Given the description of an element on the screen output the (x, y) to click on. 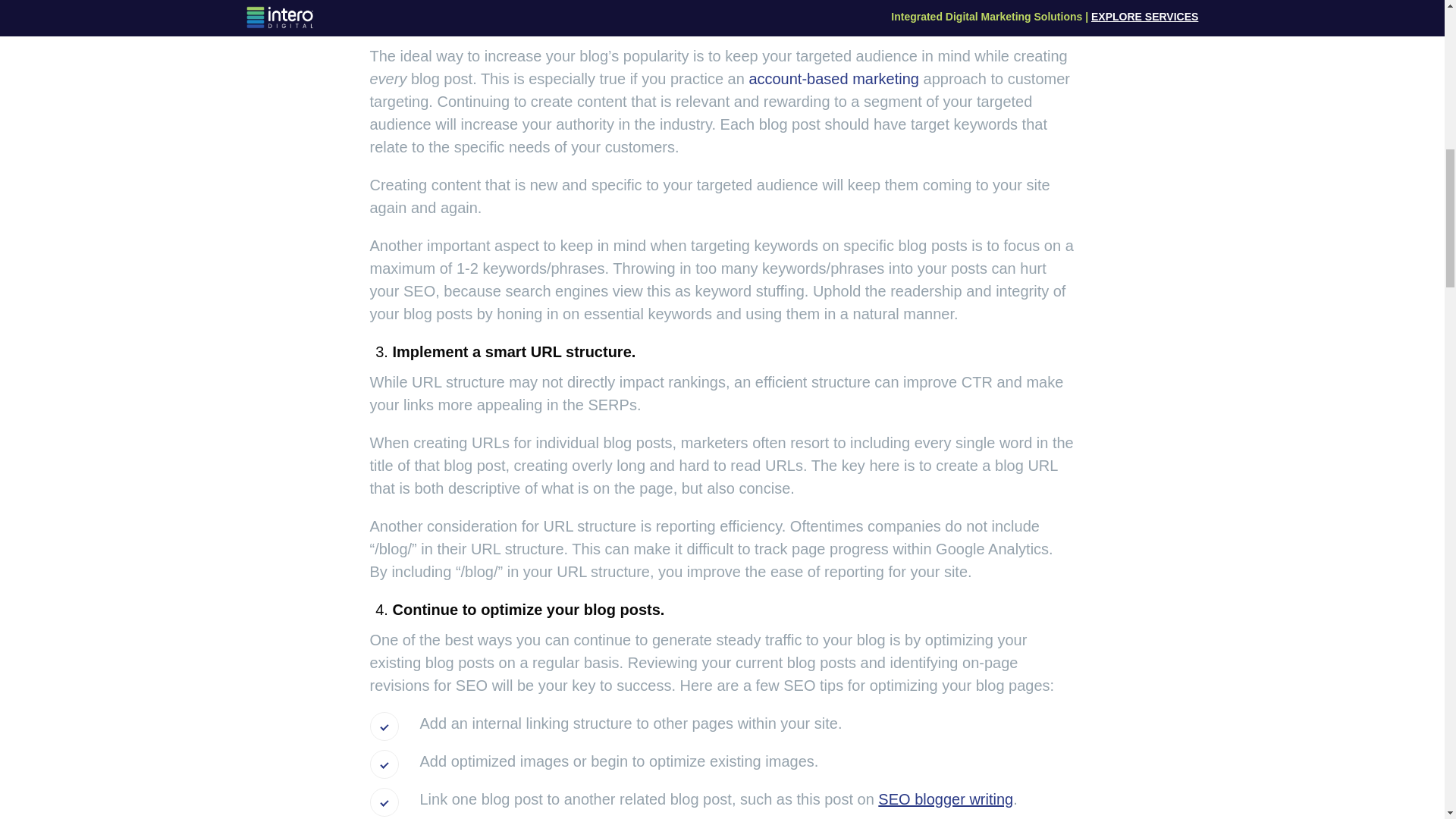
account-based marketing (833, 78)
SEO blogger writing (945, 799)
